Given the description of an element on the screen output the (x, y) to click on. 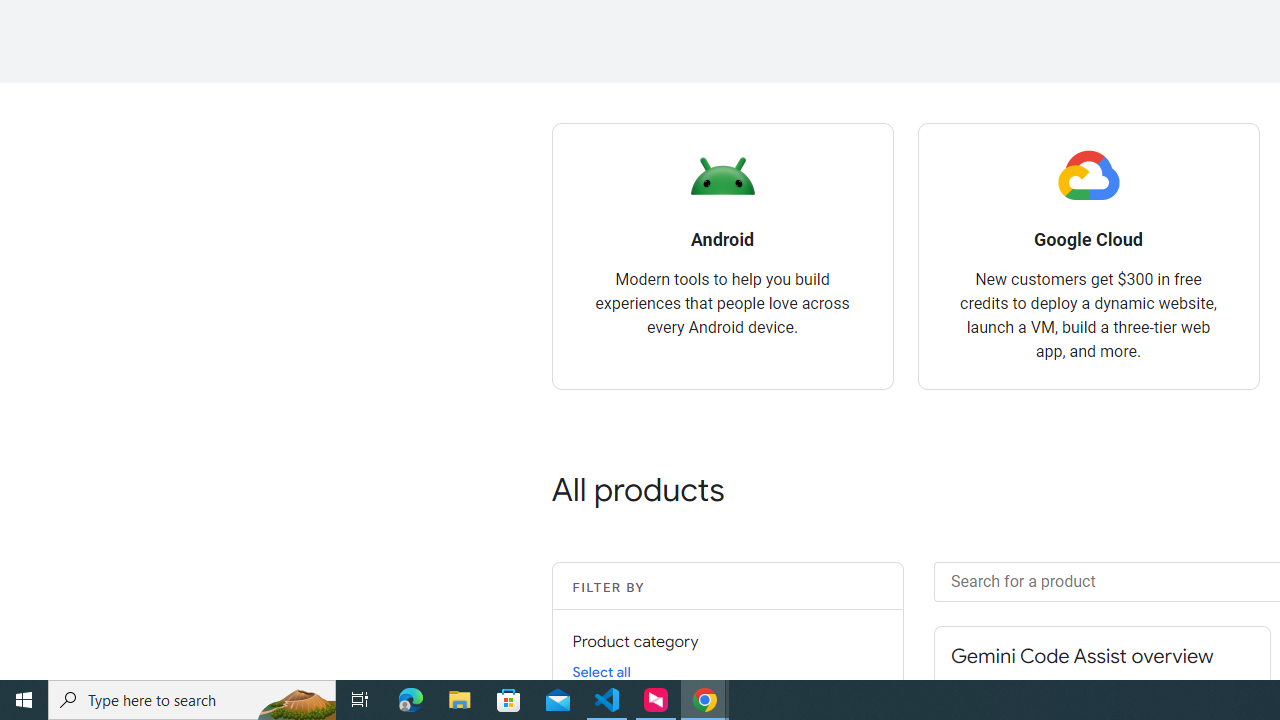
Google Cloud logo (1088, 176)
Android logo (722, 176)
Select all (601, 671)
